Given the description of an element on the screen output the (x, y) to click on. 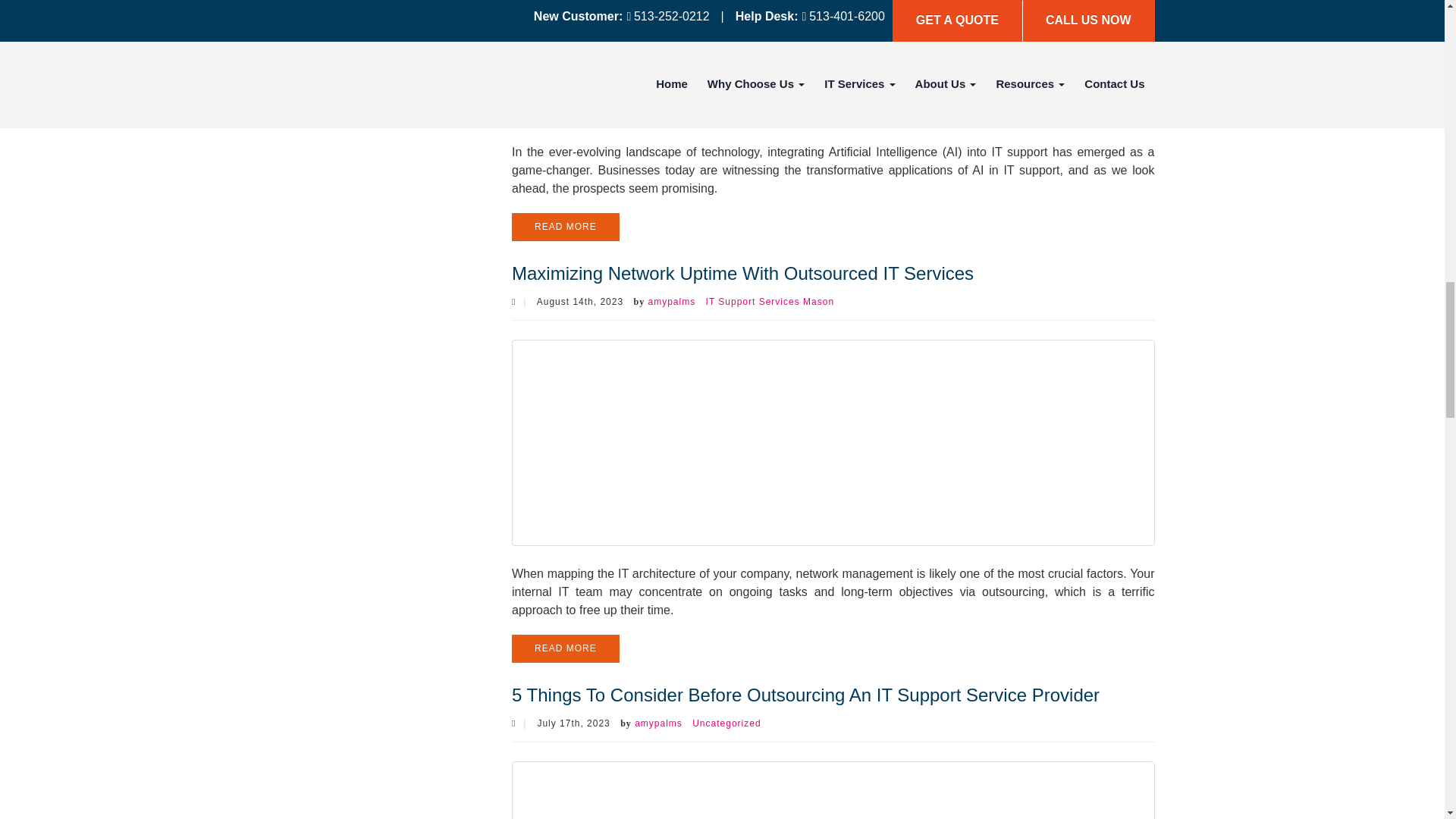
Posts by amypalms (671, 301)
Maximizing Network Uptime With Outsourced IT Services (743, 272)
Maximizing Network Uptime With Outsourced IT Services (833, 440)
Posts by amypalms (658, 723)
